Given the description of an element on the screen output the (x, y) to click on. 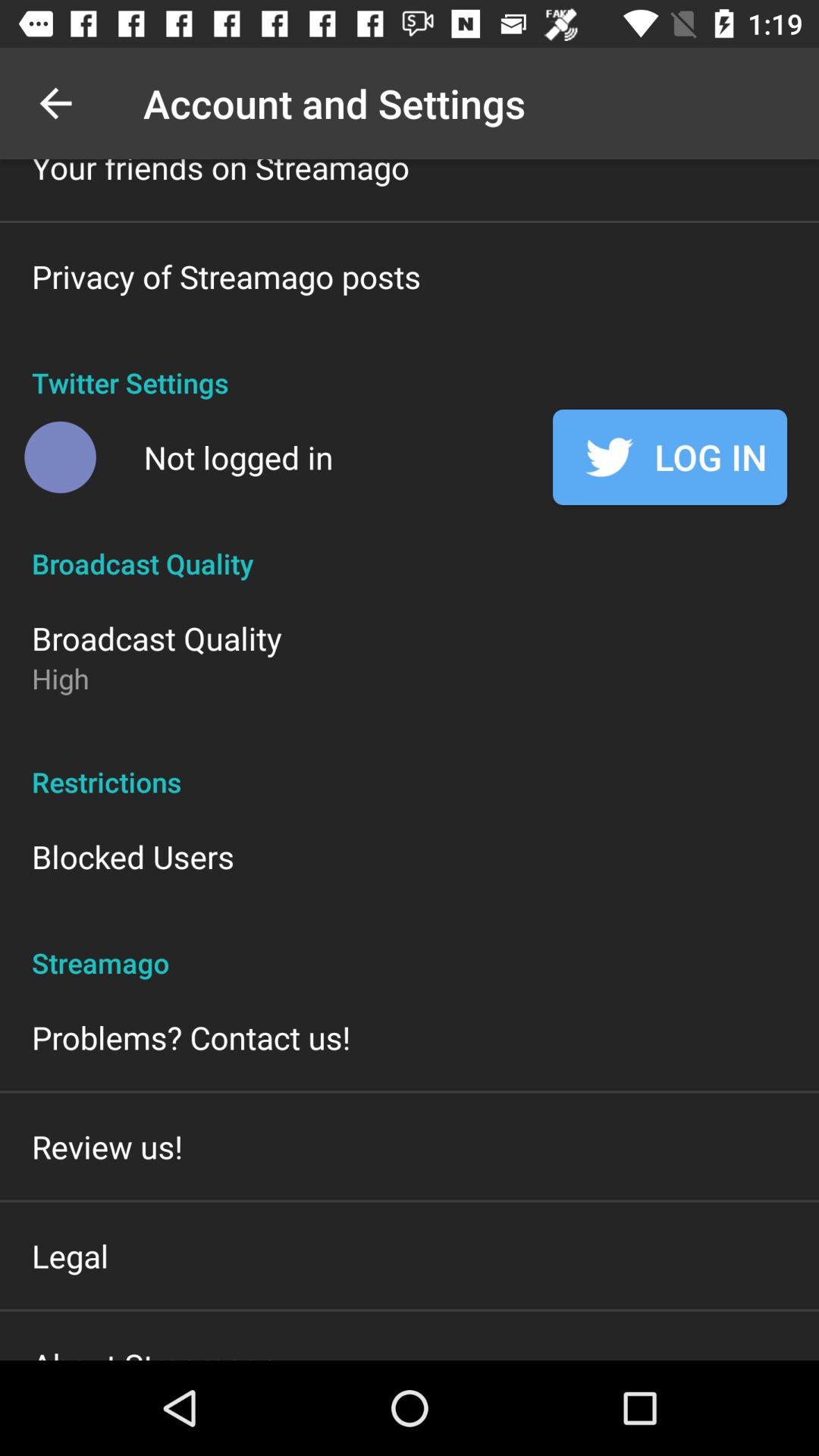
swipe until the privacy of streamago item (225, 276)
